Given the description of an element on the screen output the (x, y) to click on. 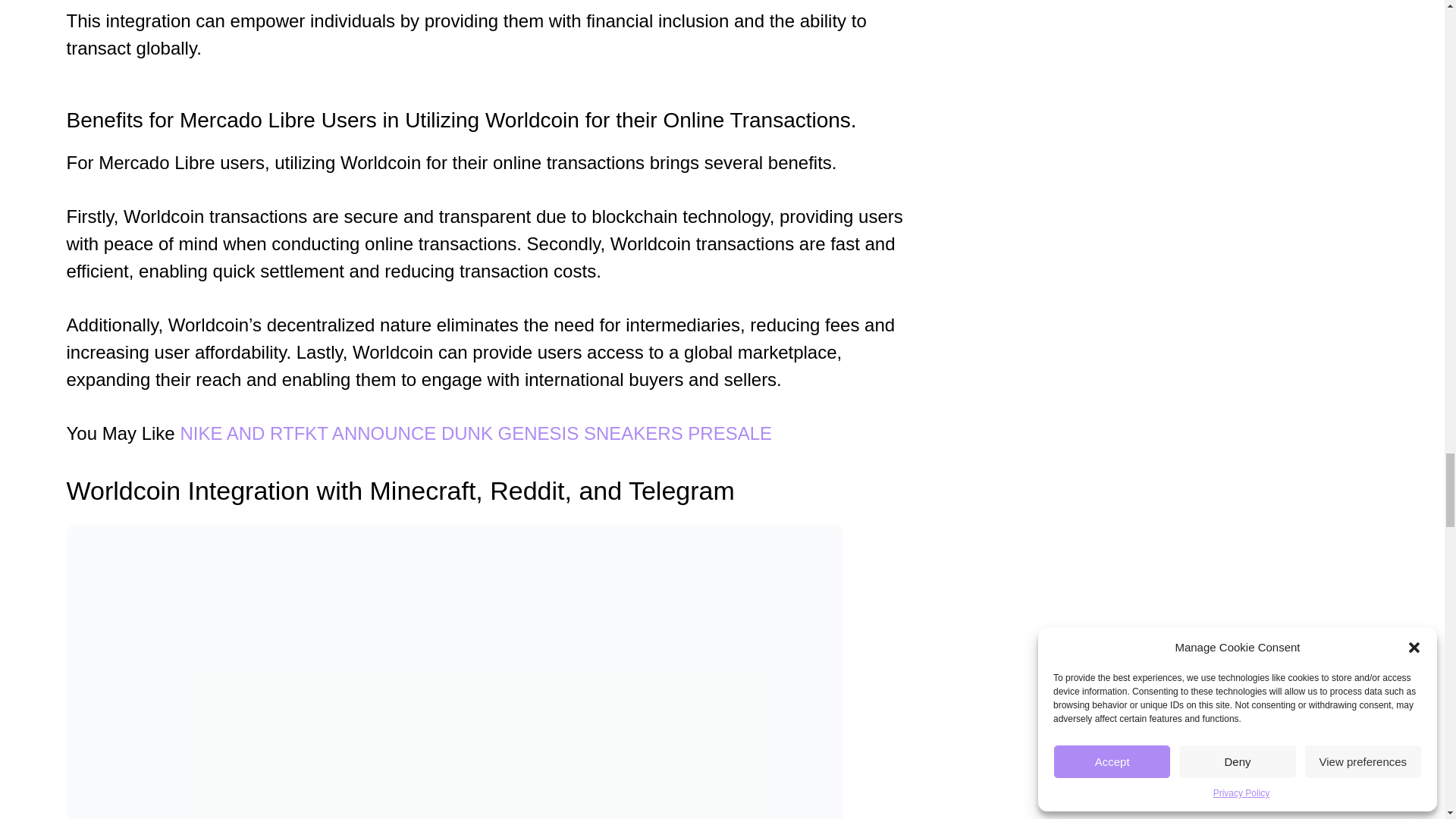
NIKE AND RTFKT ANNOUNCE DUNK GENESIS SNEAKERS PRESALE (475, 433)
